Given the description of an element on the screen output the (x, y) to click on. 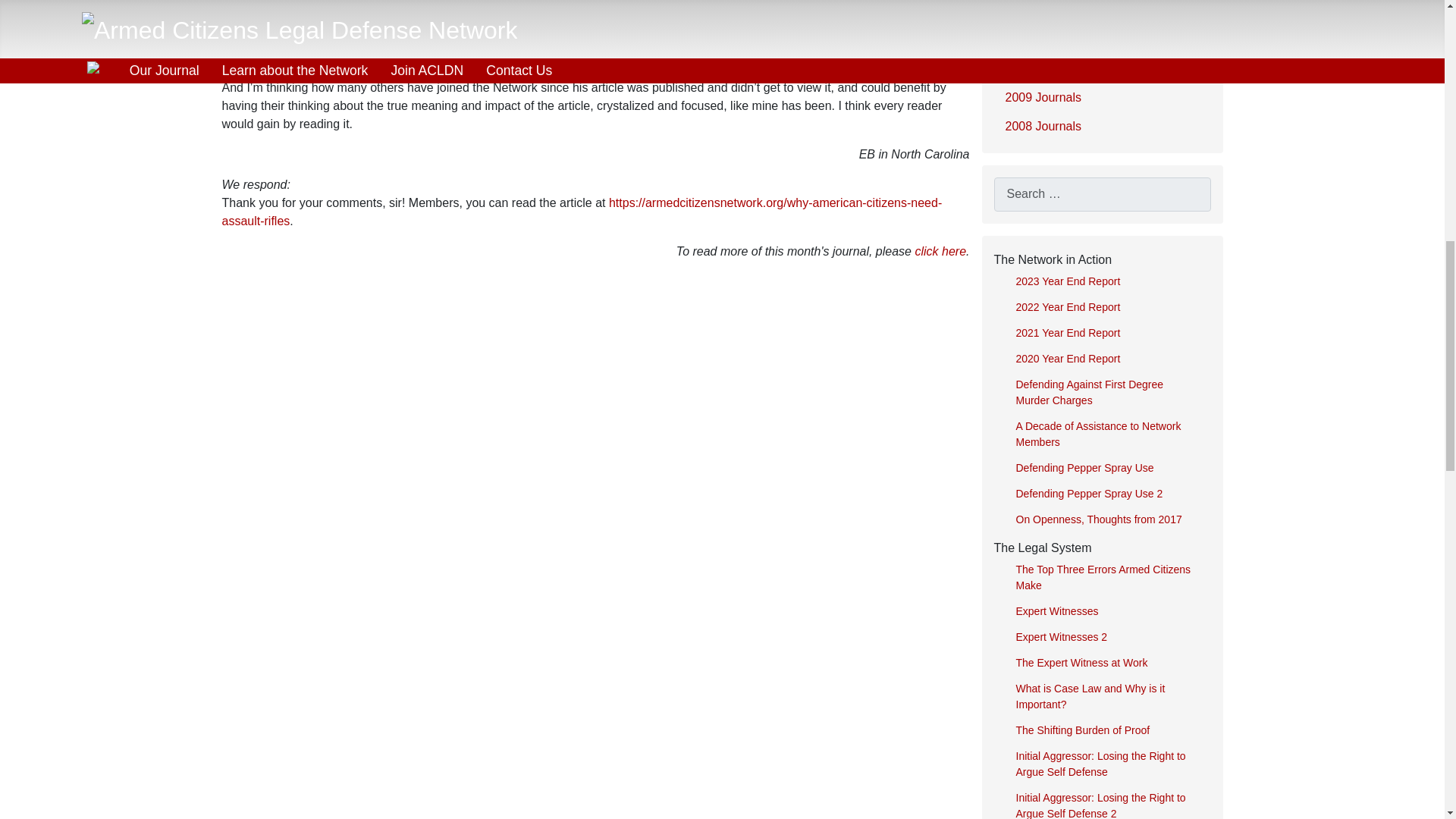
2008 Journals (1100, 126)
2010 Journals (1100, 68)
click here (940, 250)
2023 Year End Report (1106, 281)
2011 Journals (1100, 39)
2009 Journals (1100, 97)
2012 Journals (1100, 11)
